Given the description of an element on the screen output the (x, y) to click on. 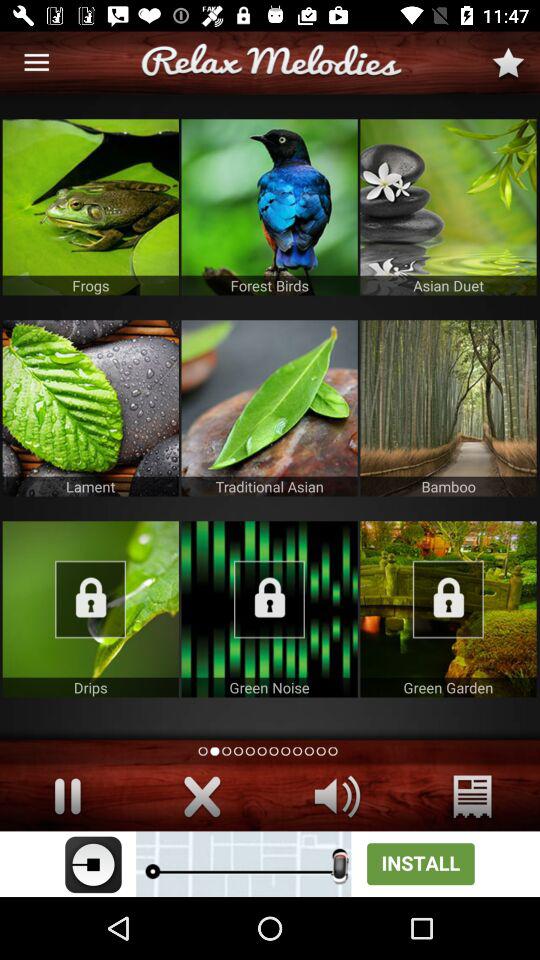
lock (448, 609)
